Given the description of an element on the screen output the (x, y) to click on. 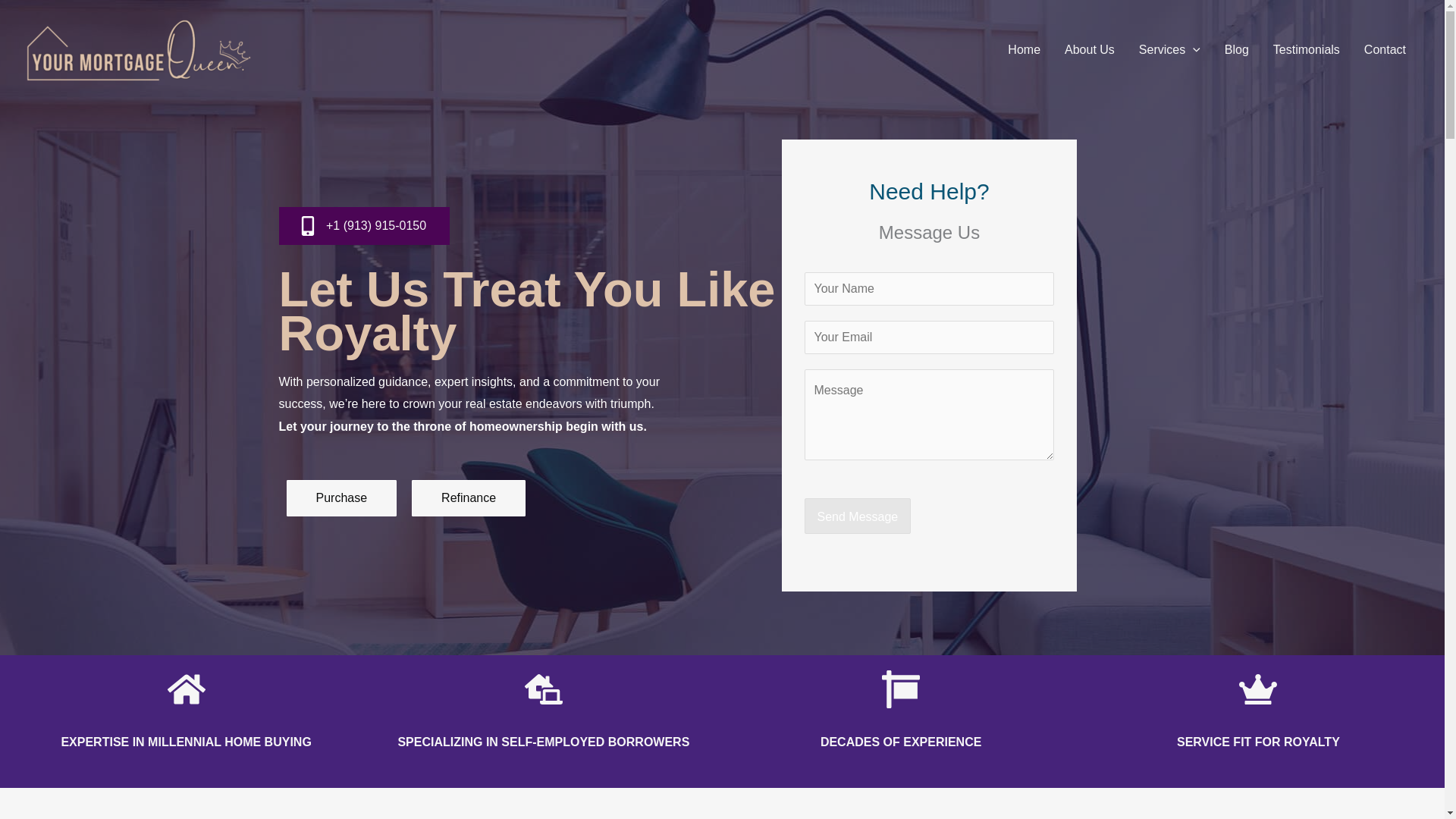
About Us (1089, 49)
Home (1023, 49)
Send Message (858, 515)
Refinance (468, 497)
Purchase (341, 497)
Testimonials (1306, 49)
Contact (1385, 49)
Blog (1236, 49)
Services (1169, 49)
